Given the description of an element on the screen output the (x, y) to click on. 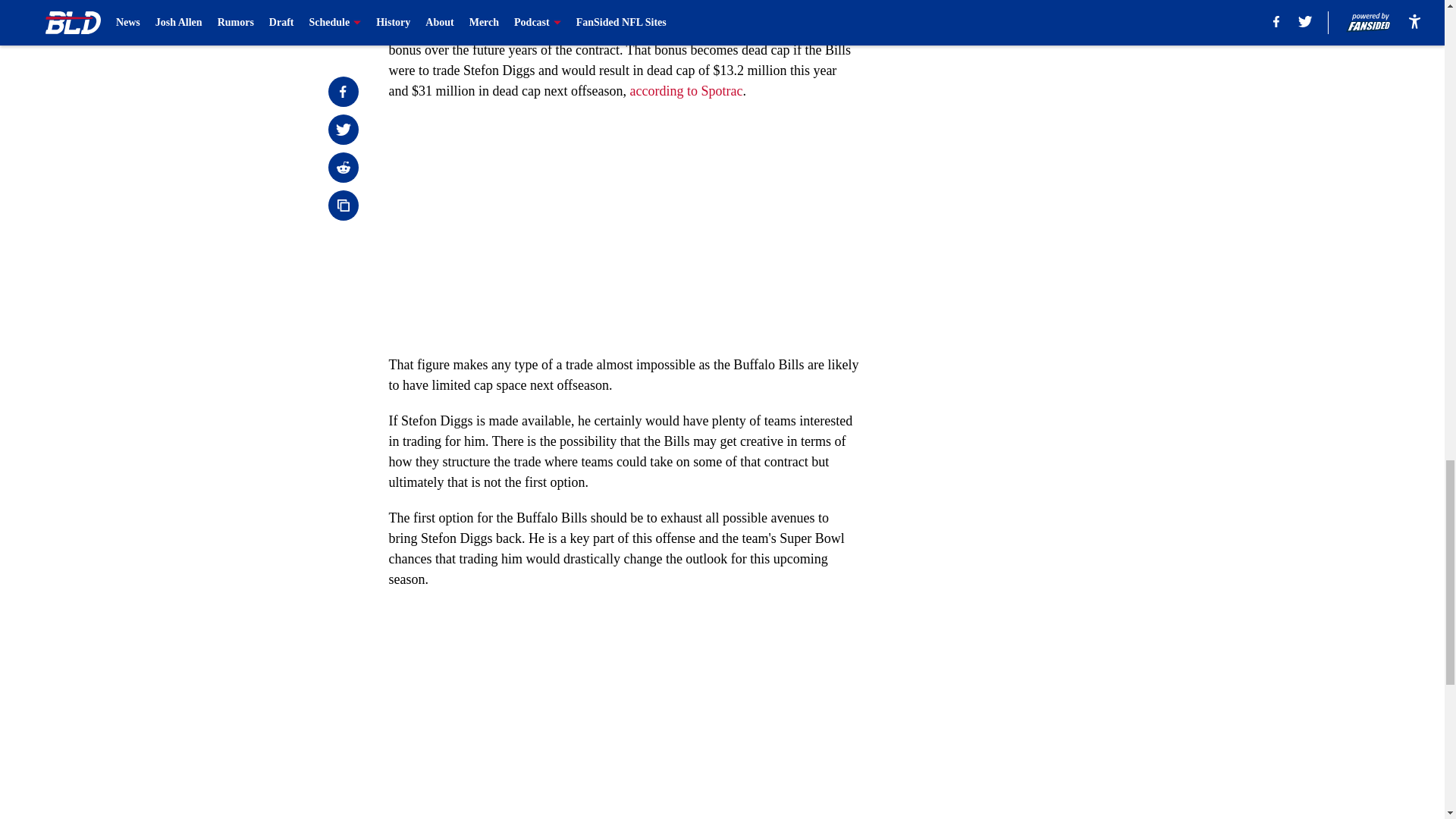
according to Spotrac (686, 90)
